Given the description of an element on the screen output the (x, y) to click on. 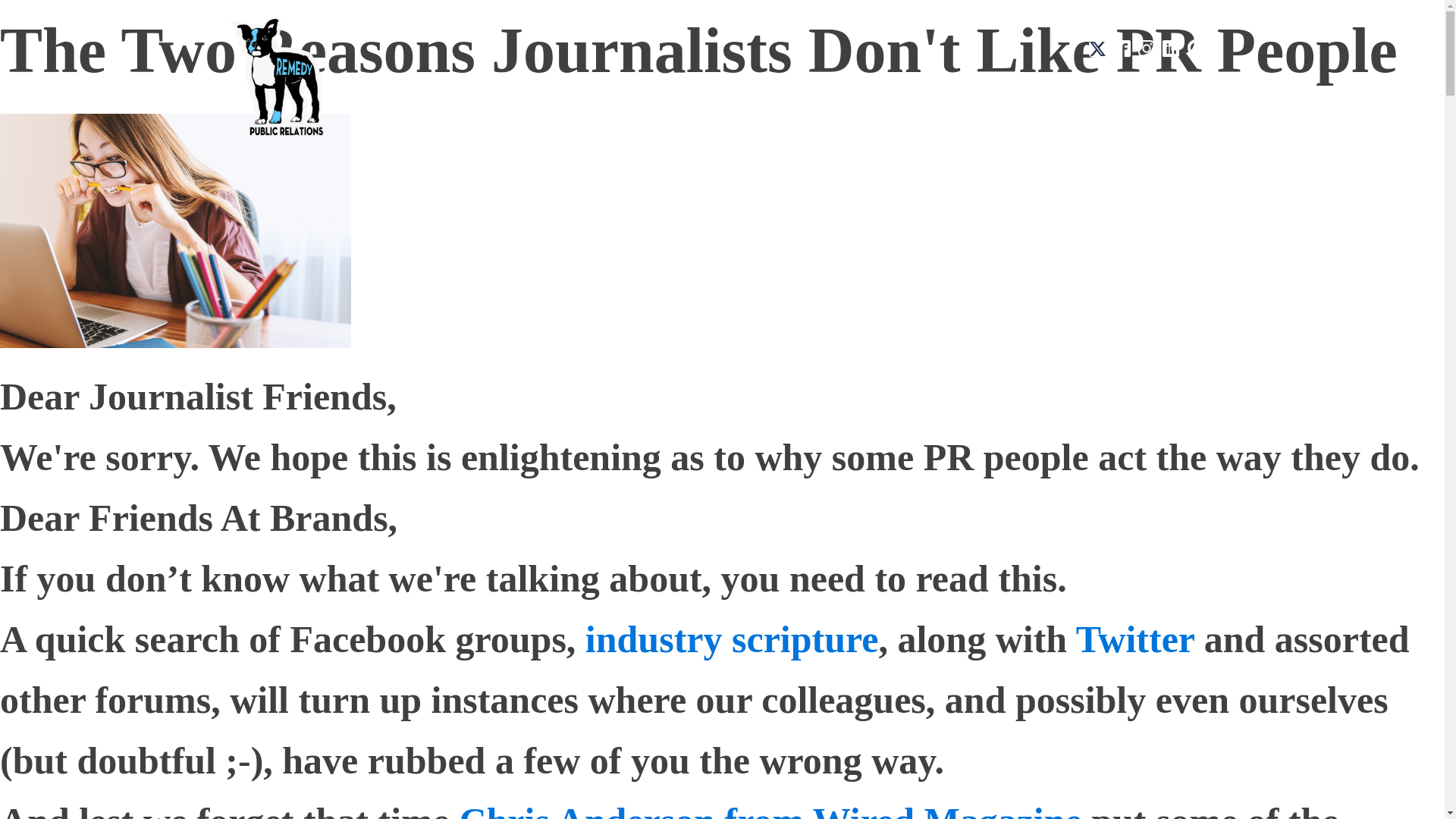
CONTACT US (1155, 85)
BRAND EXPERIENCE (809, 85)
industry scripture (732, 639)
SERVICES (670, 85)
PR CHECKUP (1033, 85)
Chris Anderson from Wired Magazine (769, 809)
ABOUT (572, 85)
NEWS (935, 85)
Twitter (1134, 639)
